Given the description of an element on the screen output the (x, y) to click on. 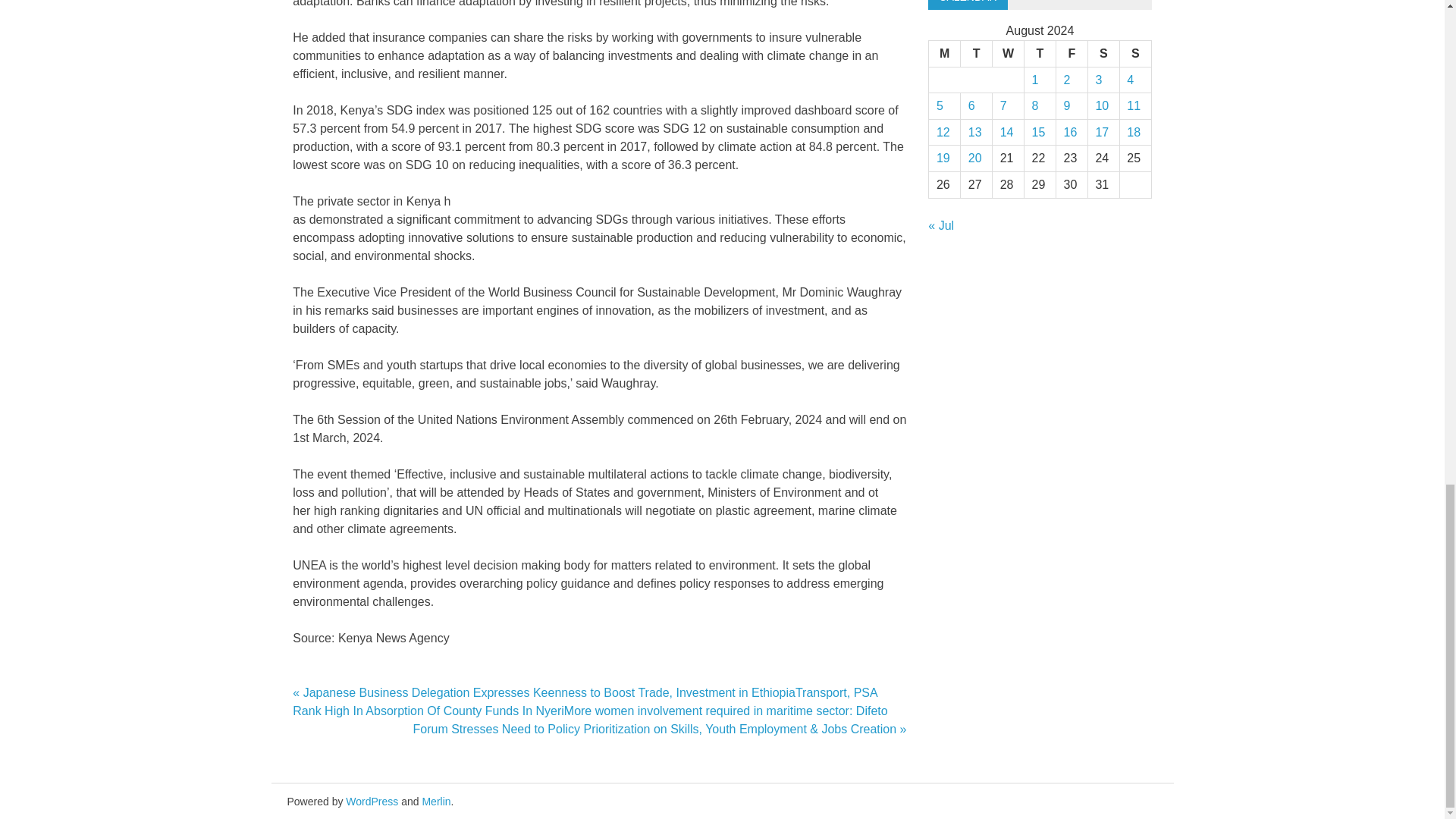
11 (1133, 105)
13 (974, 132)
Saturday (1103, 53)
Tuesday (976, 53)
14 (1006, 132)
Sunday (1135, 53)
12 (943, 132)
Wednesday (1008, 53)
Merlin WordPress Theme (435, 801)
Friday (1071, 53)
